Given the description of an element on the screen output the (x, y) to click on. 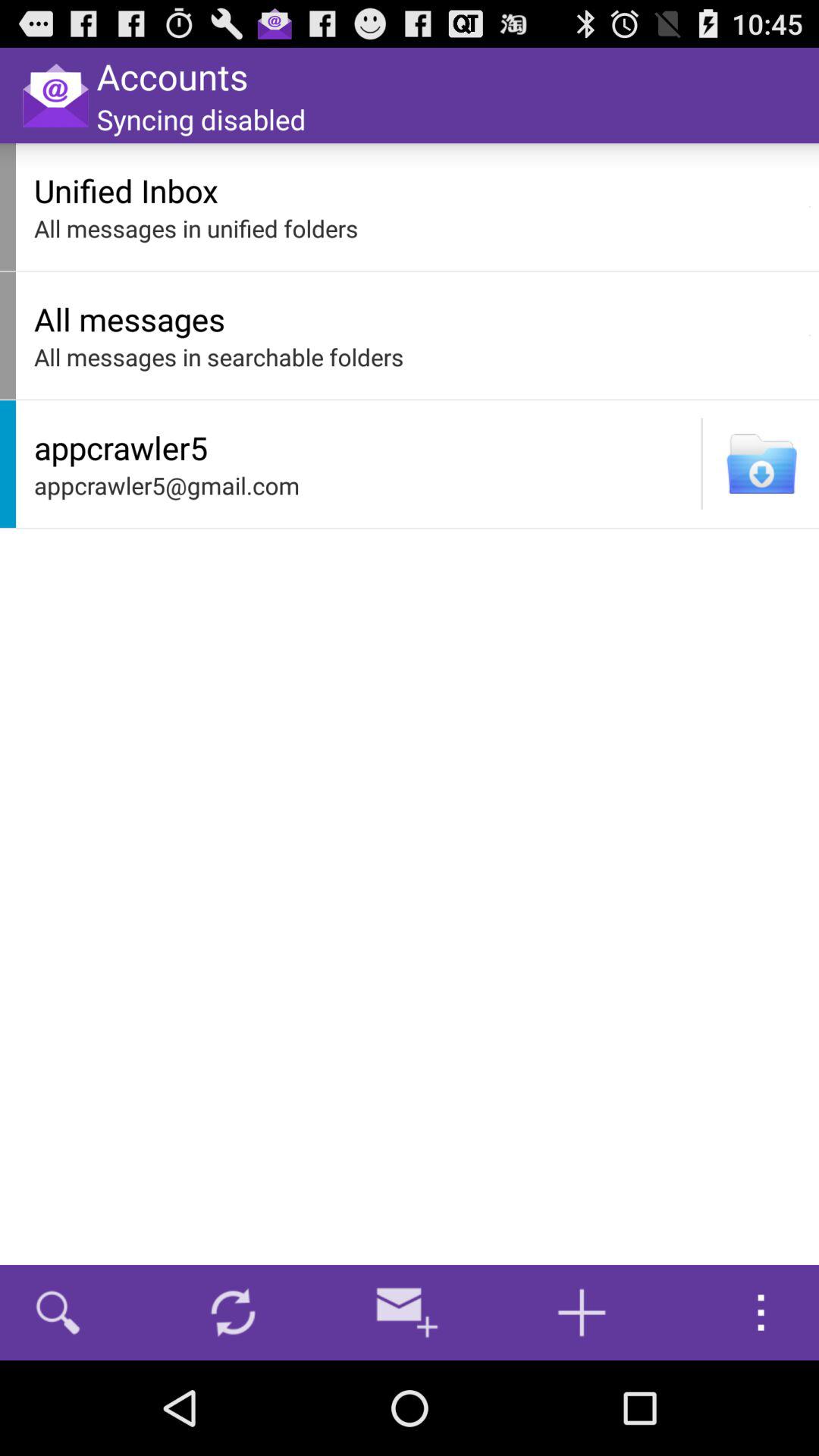
flip until the appcrawler5@gmail.com app (363, 485)
